Given the description of an element on the screen output the (x, y) to click on. 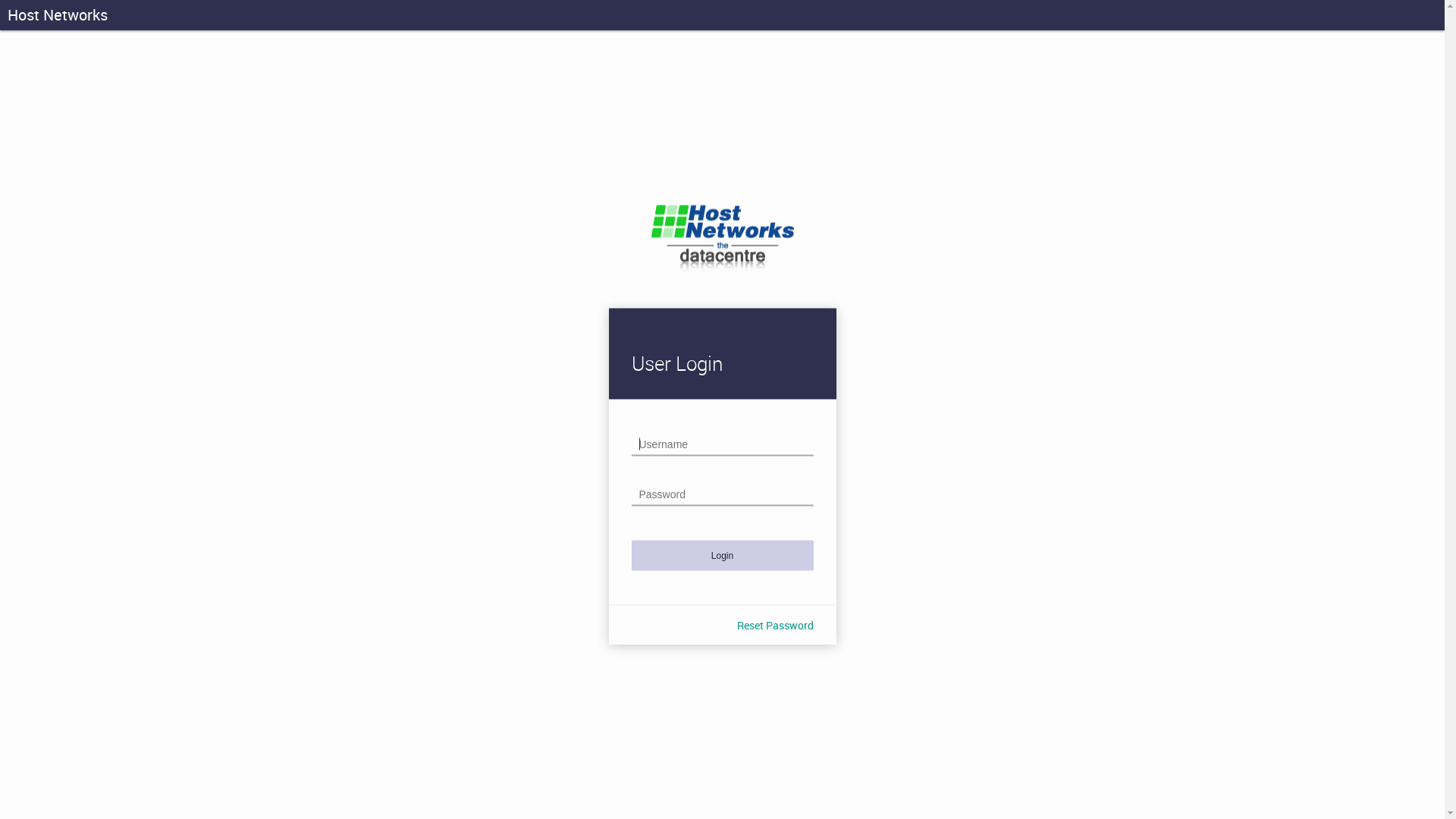
Login Element type: text (721, 554)
Host Networks Element type: text (57, 14)
Reset Password Element type: text (775, 625)
